Given the description of an element on the screen output the (x, y) to click on. 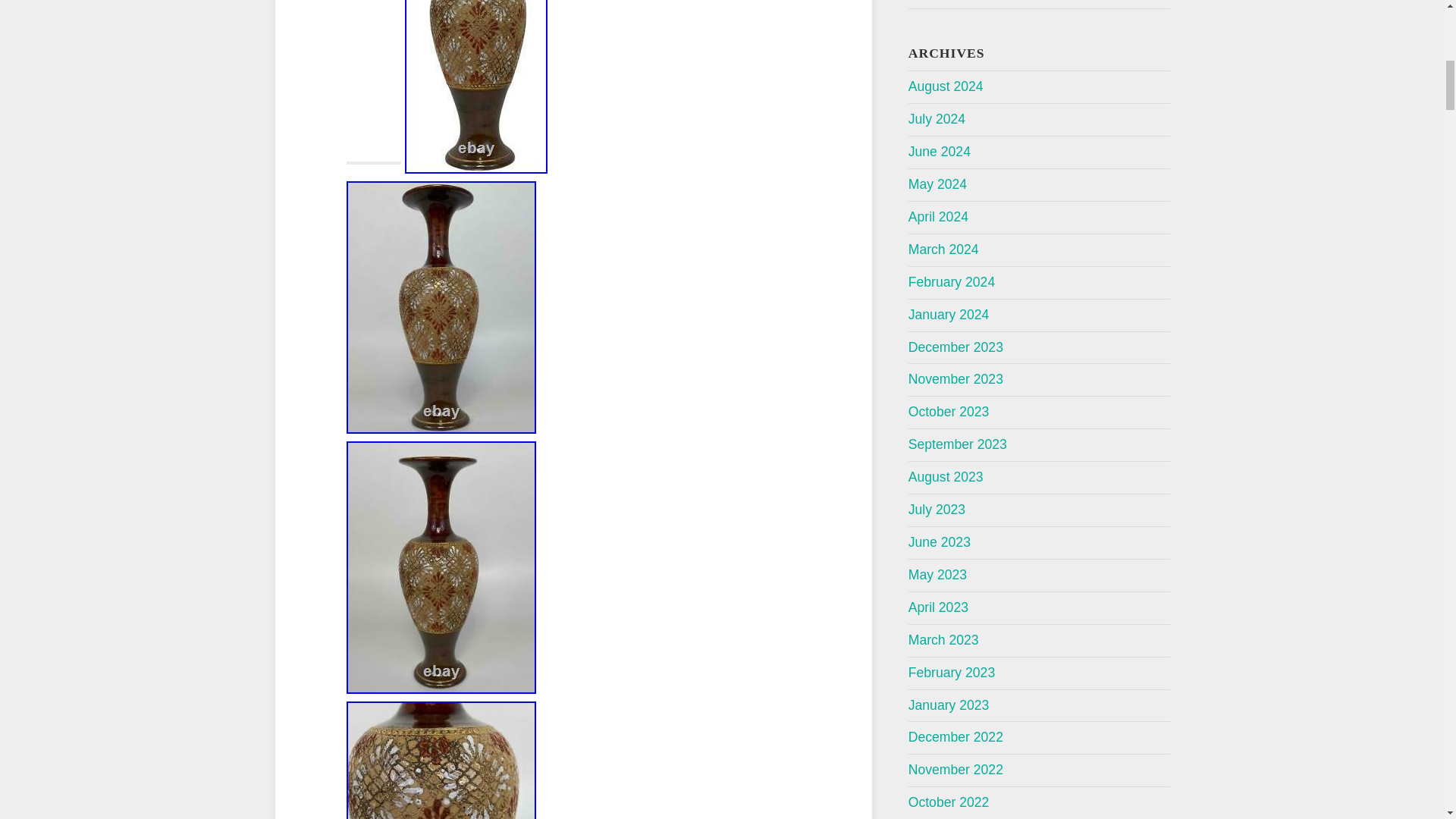
February 2024 (951, 281)
September 2023 (957, 444)
December 2023 (955, 346)
January 2024 (949, 314)
July 2024 (936, 118)
May 2024 (937, 183)
August 2024 (946, 86)
November 2023 (955, 378)
August 2023 (946, 476)
